Given the description of an element on the screen output the (x, y) to click on. 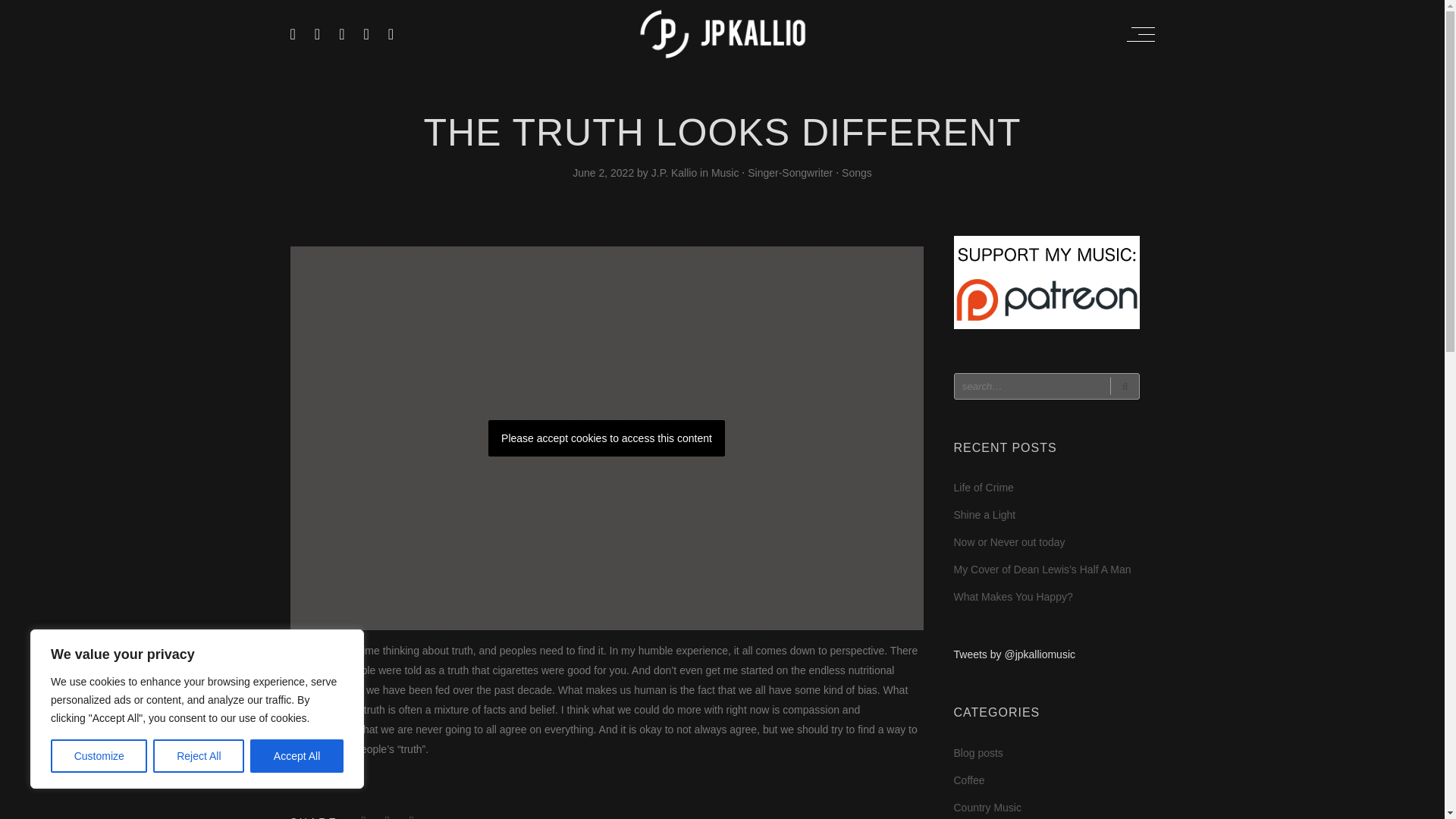
Reject All (198, 756)
Search (1123, 385)
Accept All (296, 756)
Customize (98, 756)
